Given the description of an element on the screen output the (x, y) to click on. 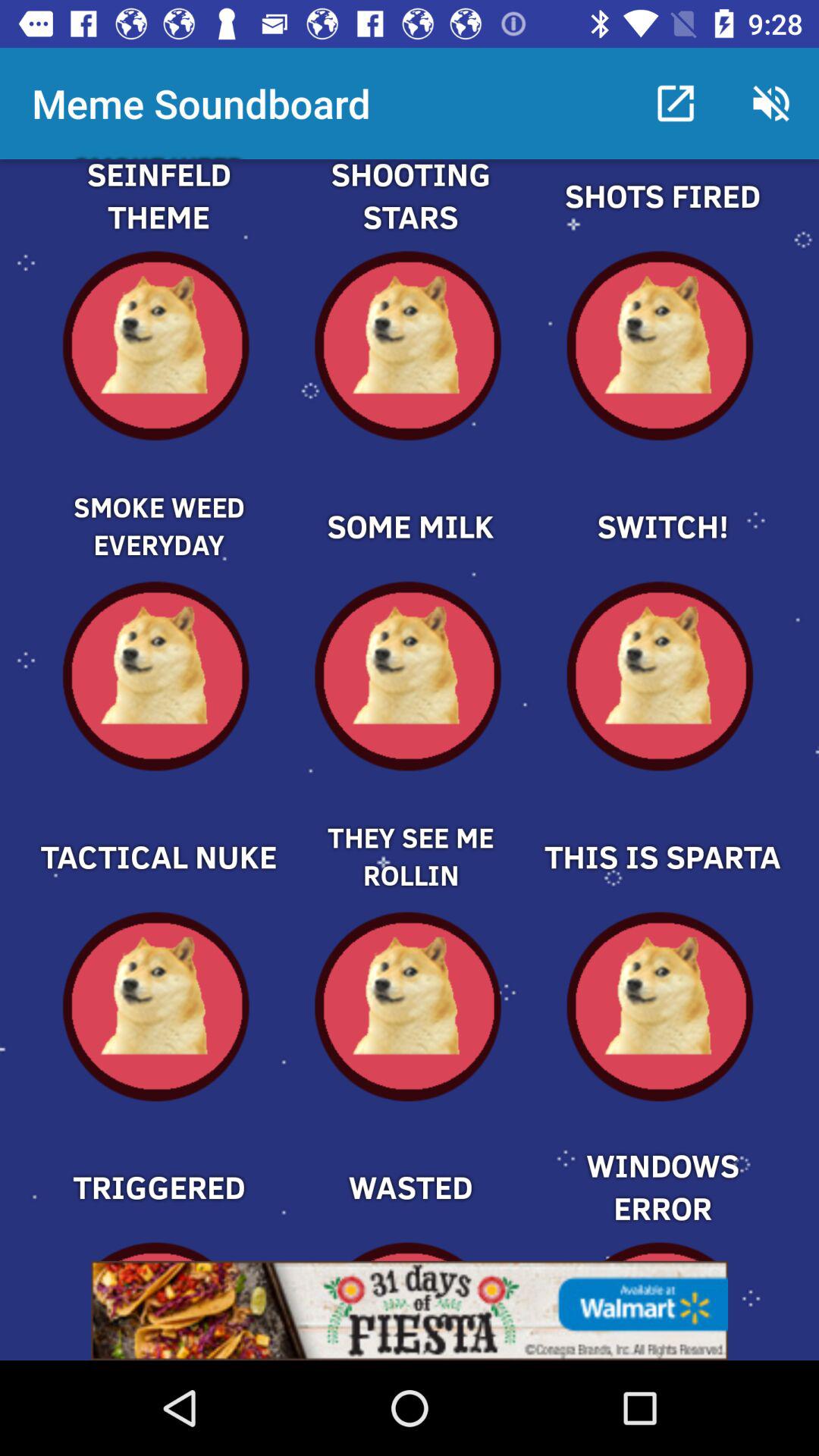
play sound of shots fired (660, 214)
